Given the description of an element on the screen output the (x, y) to click on. 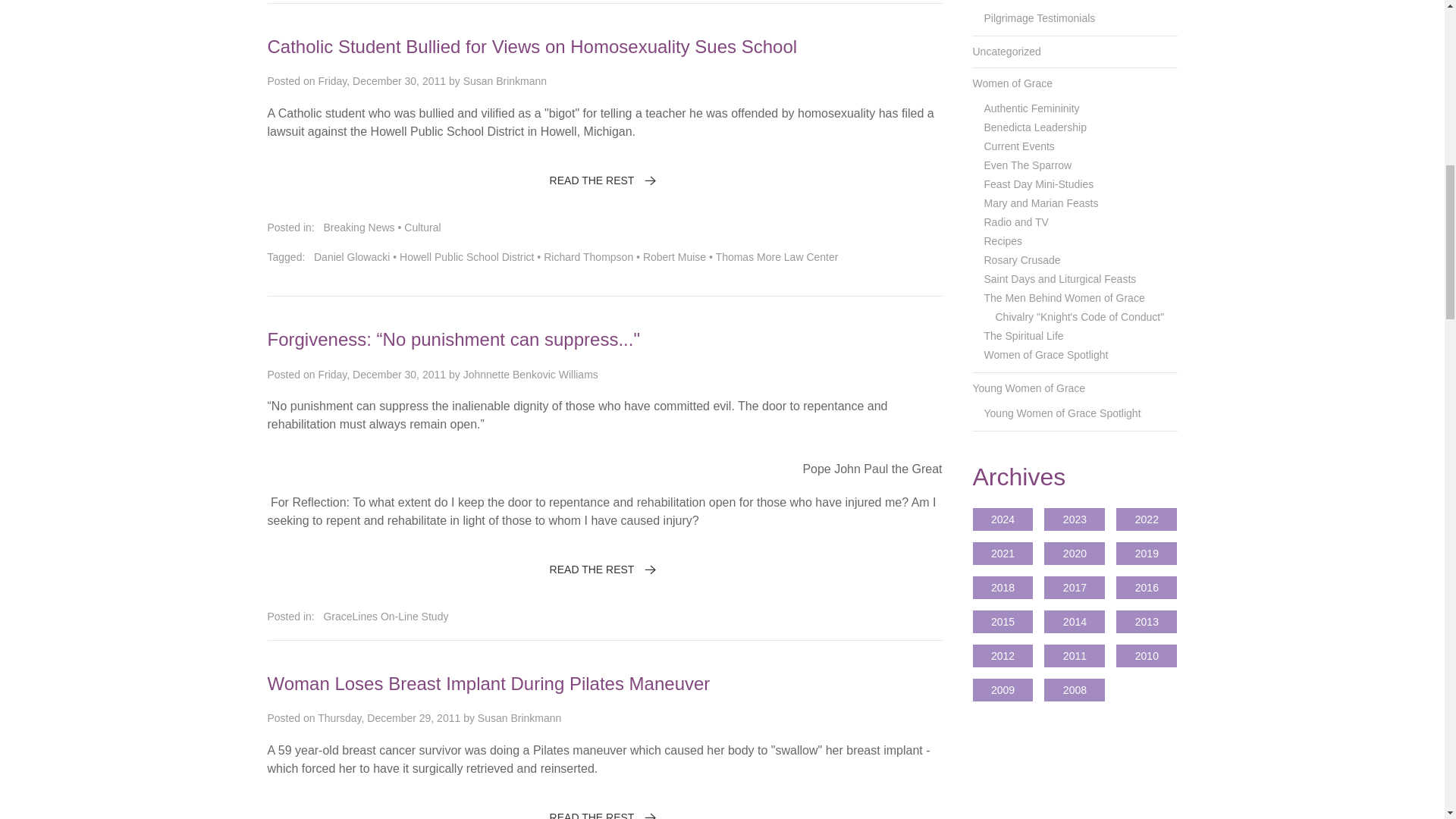
Friday, December 30, 2011 (381, 80)
